Given the description of an element on the screen output the (x, y) to click on. 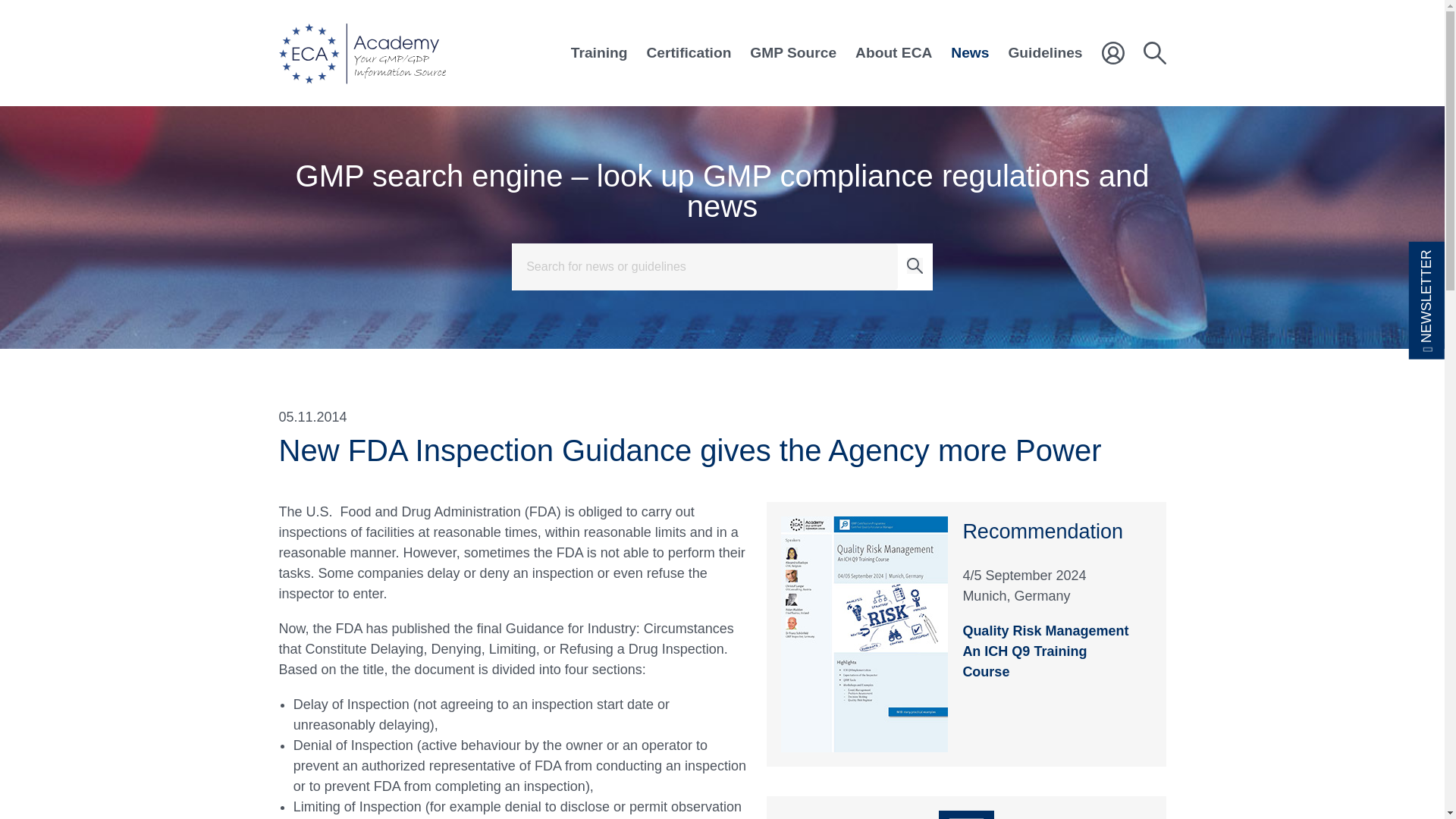
ECA Academy - ECA Academy (362, 53)
